Given the description of an element on the screen output the (x, y) to click on. 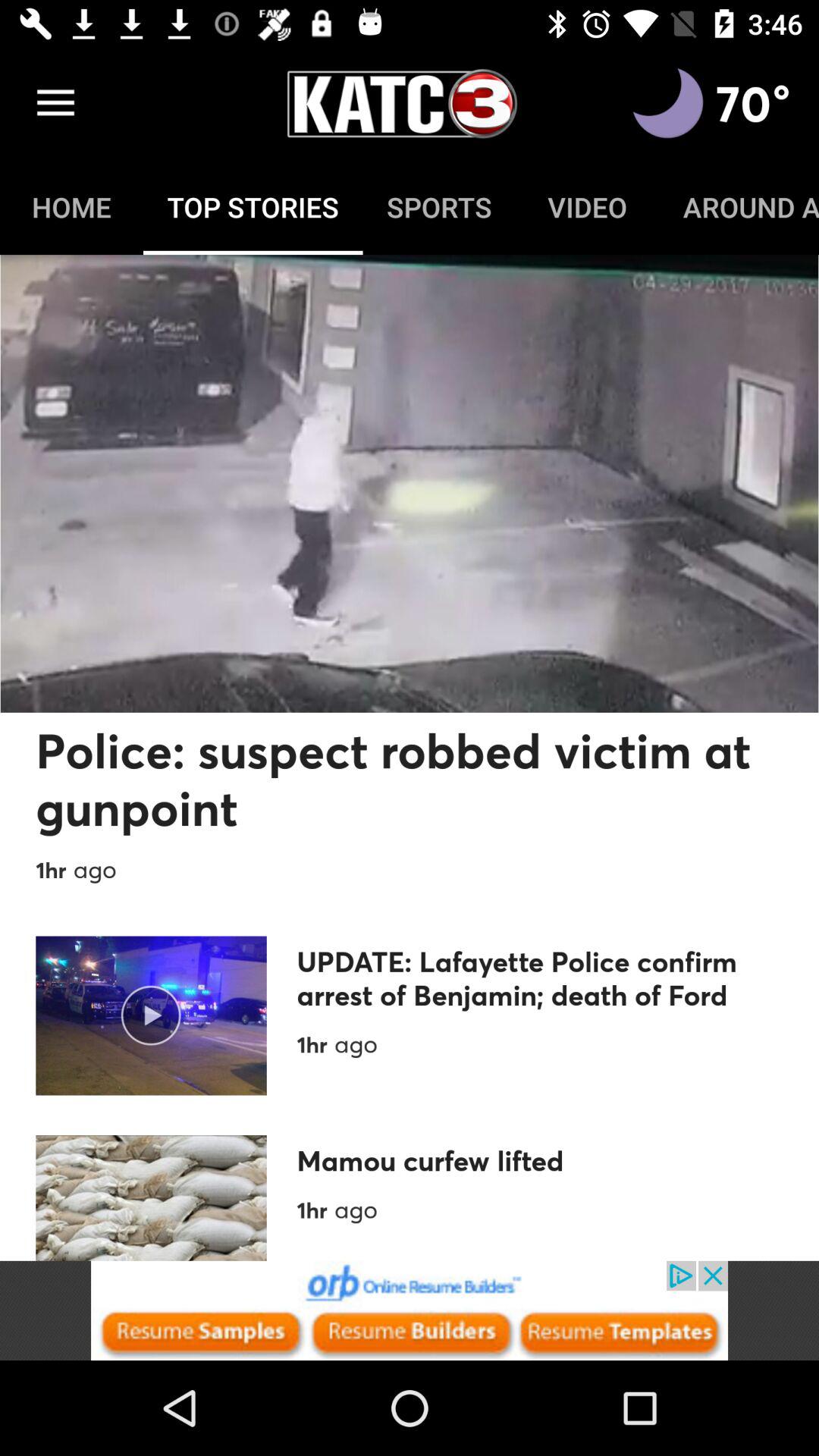
go to another site (409, 1310)
